Given the description of an element on the screen output the (x, y) to click on. 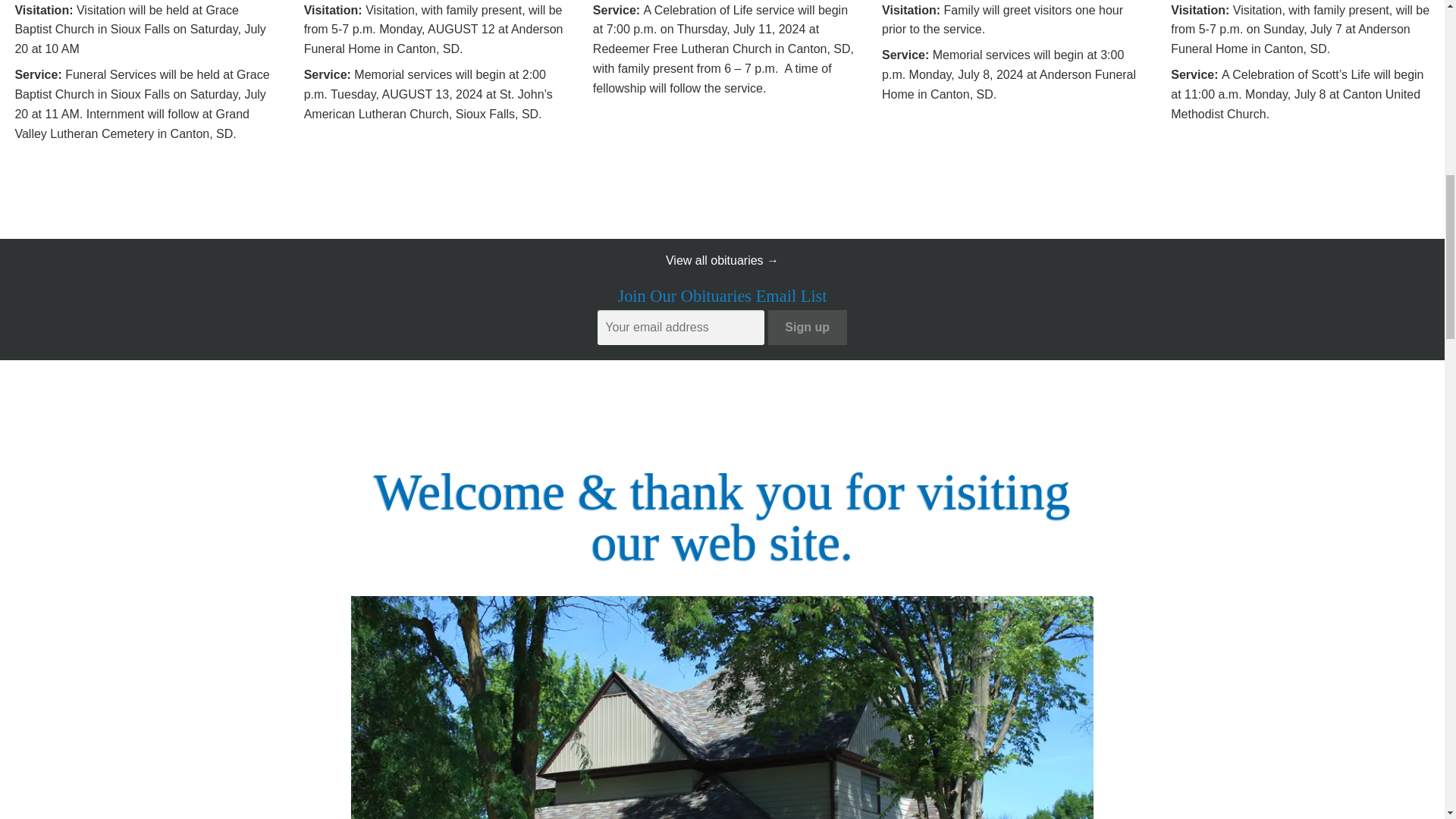
Sign up (807, 327)
Sign up (807, 327)
